Given the description of an element on the screen output the (x, y) to click on. 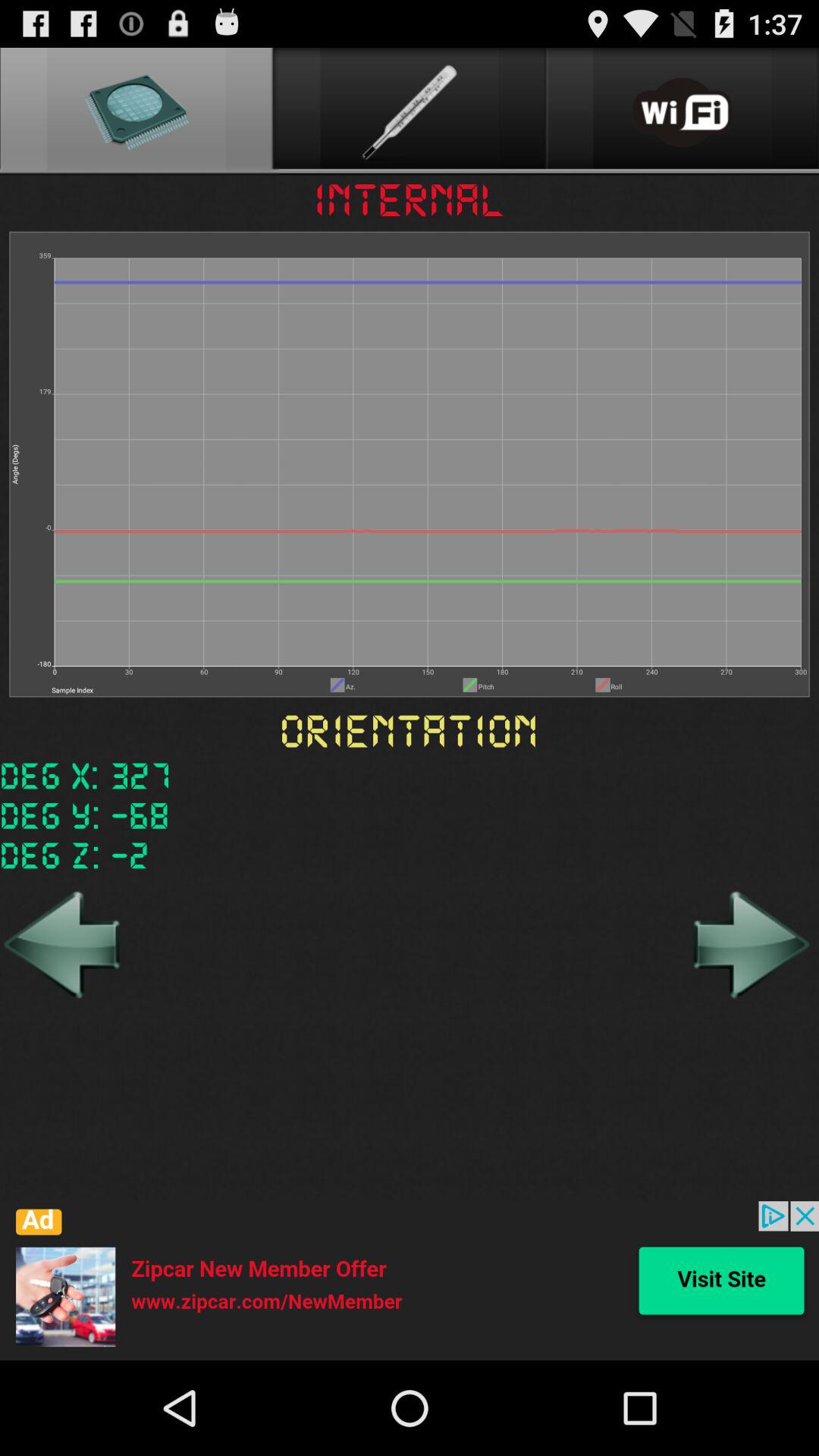
advertisement the article (409, 1280)
